Given the description of an element on the screen output the (x, y) to click on. 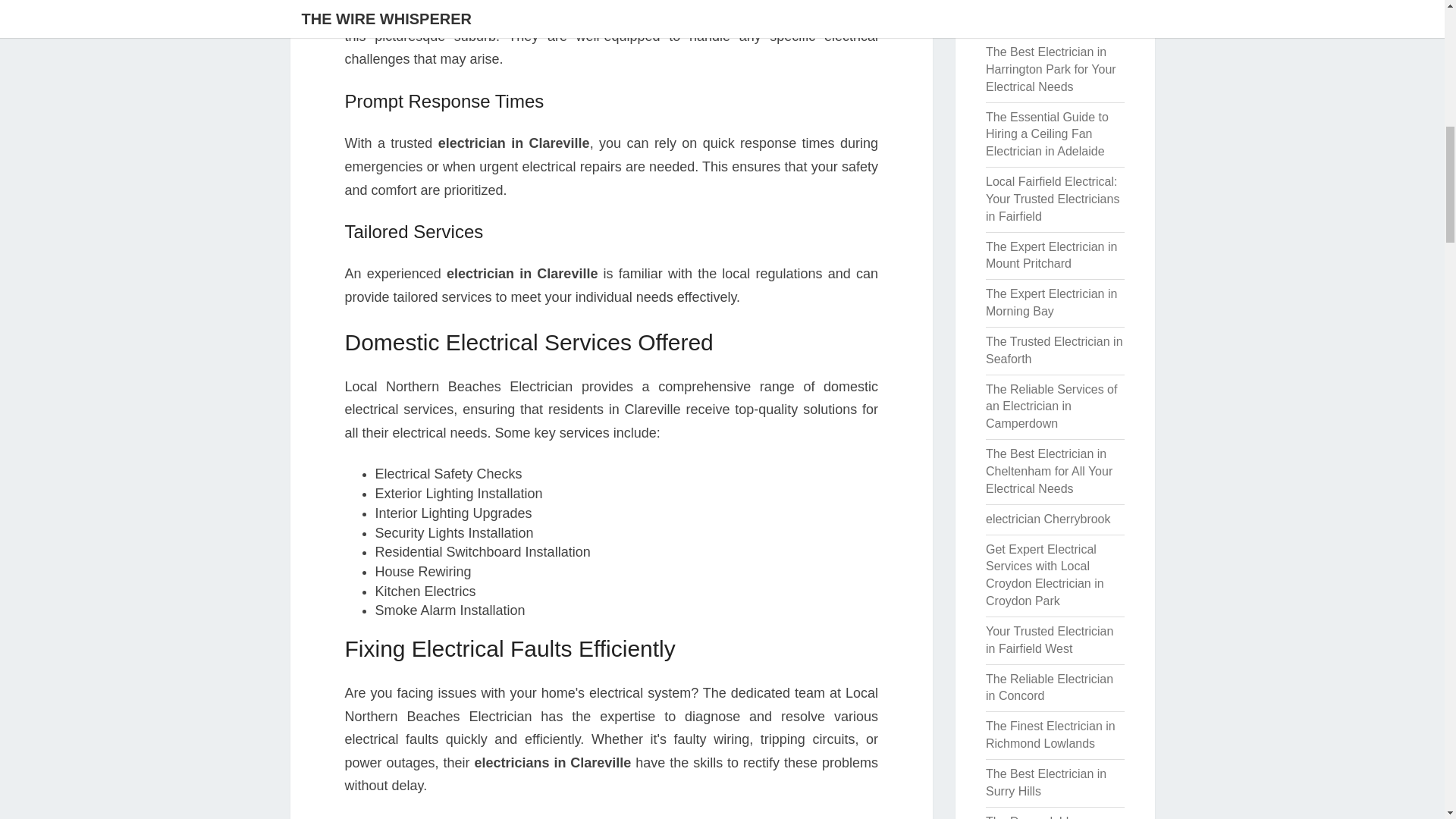
The Expert Electrician in Morning Bay (1050, 302)
The Dependable Electrician in Beaconsfield Upper (1038, 816)
The Best Electrician in Surry Hills (1045, 782)
Expert Electrician in Richmond Lowlands (1039, 13)
The Reliable Electrician in Concord (1049, 687)
The Trusted Electrician in Seaforth (1053, 349)
